Given the description of an element on the screen output the (x, y) to click on. 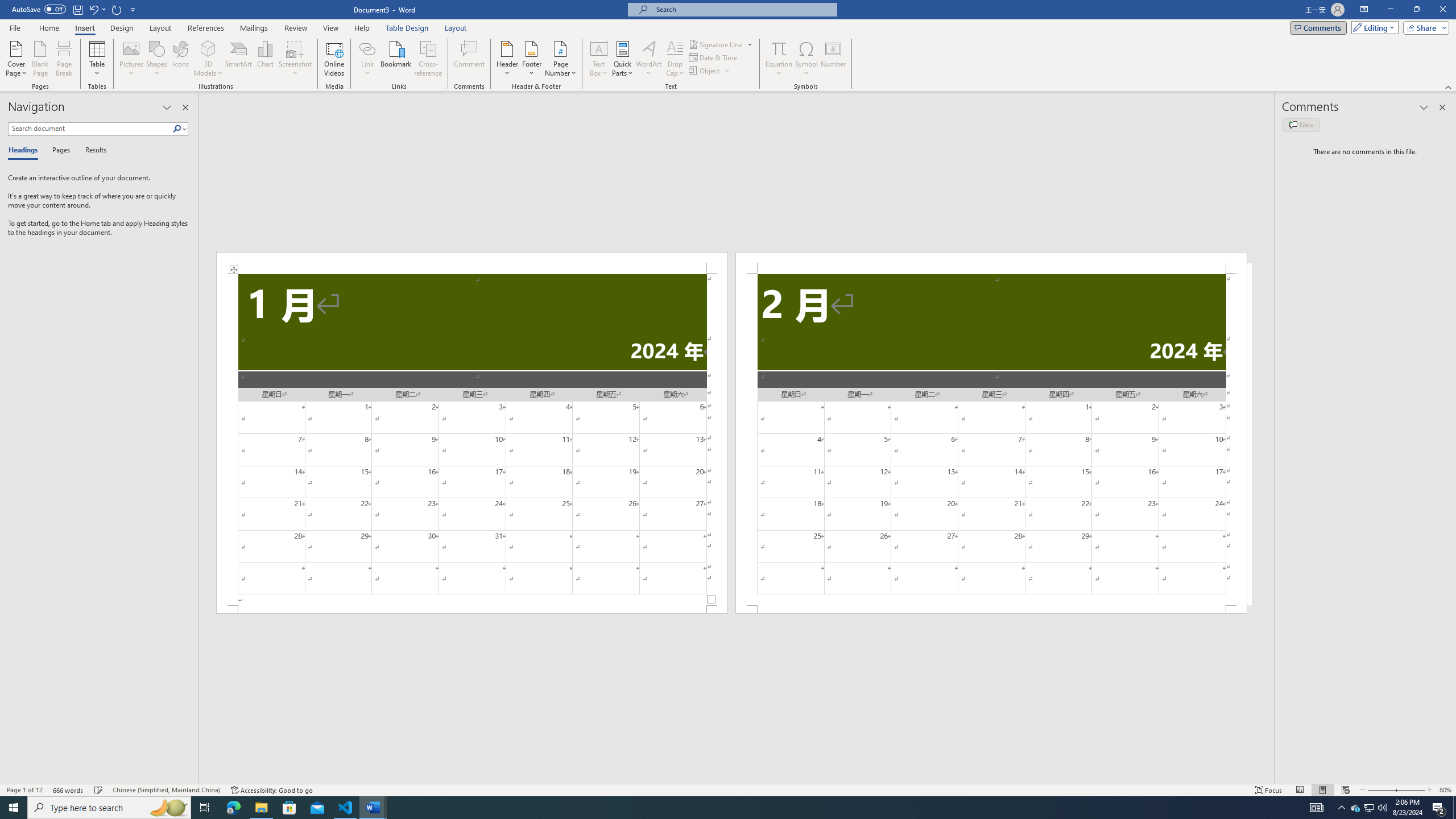
Web Layout (1344, 790)
Quick Access Toolbar (74, 9)
Headings (25, 150)
Class: NetUIImage (177, 128)
Link (367, 48)
Language Chinese (Simplified, Mainland China) (165, 790)
Customize Quick Access Toolbar (133, 9)
Number... (833, 58)
Close (1442, 9)
Minimize (1390, 9)
Signature Line (721, 44)
Close pane (185, 107)
Share (1423, 27)
